Given the description of an element on the screen output the (x, y) to click on. 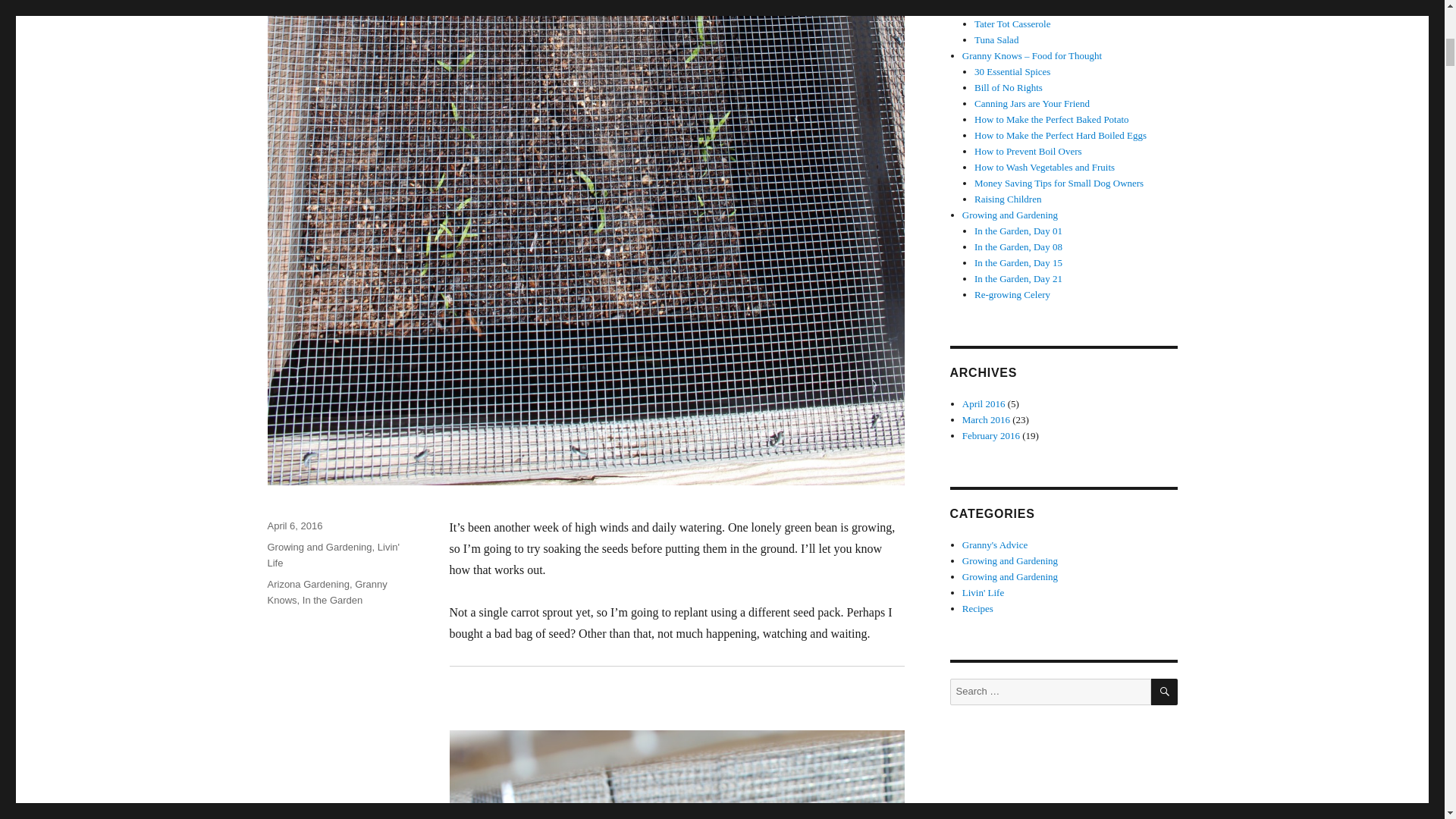
Arizona Gardening (307, 583)
Granny Knows (326, 592)
Growing and Gardening (318, 546)
In the Garden (332, 600)
April 6, 2016 (293, 525)
Livin' Life (332, 554)
